Given the description of an element on the screen output the (x, y) to click on. 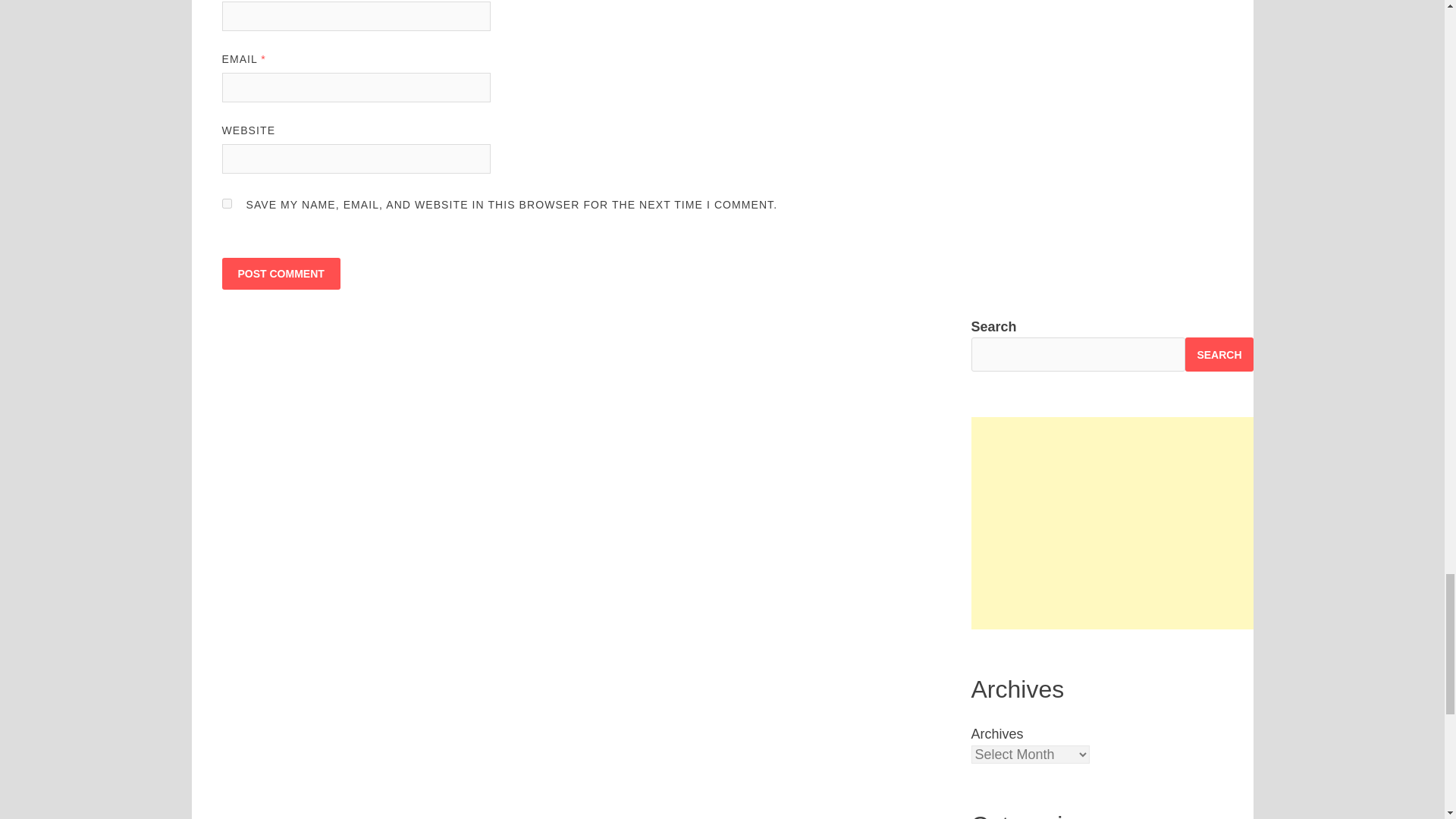
Post Comment (280, 273)
yes (226, 203)
Post Comment (280, 273)
SEARCH (1218, 354)
